Given the description of an element on the screen output the (x, y) to click on. 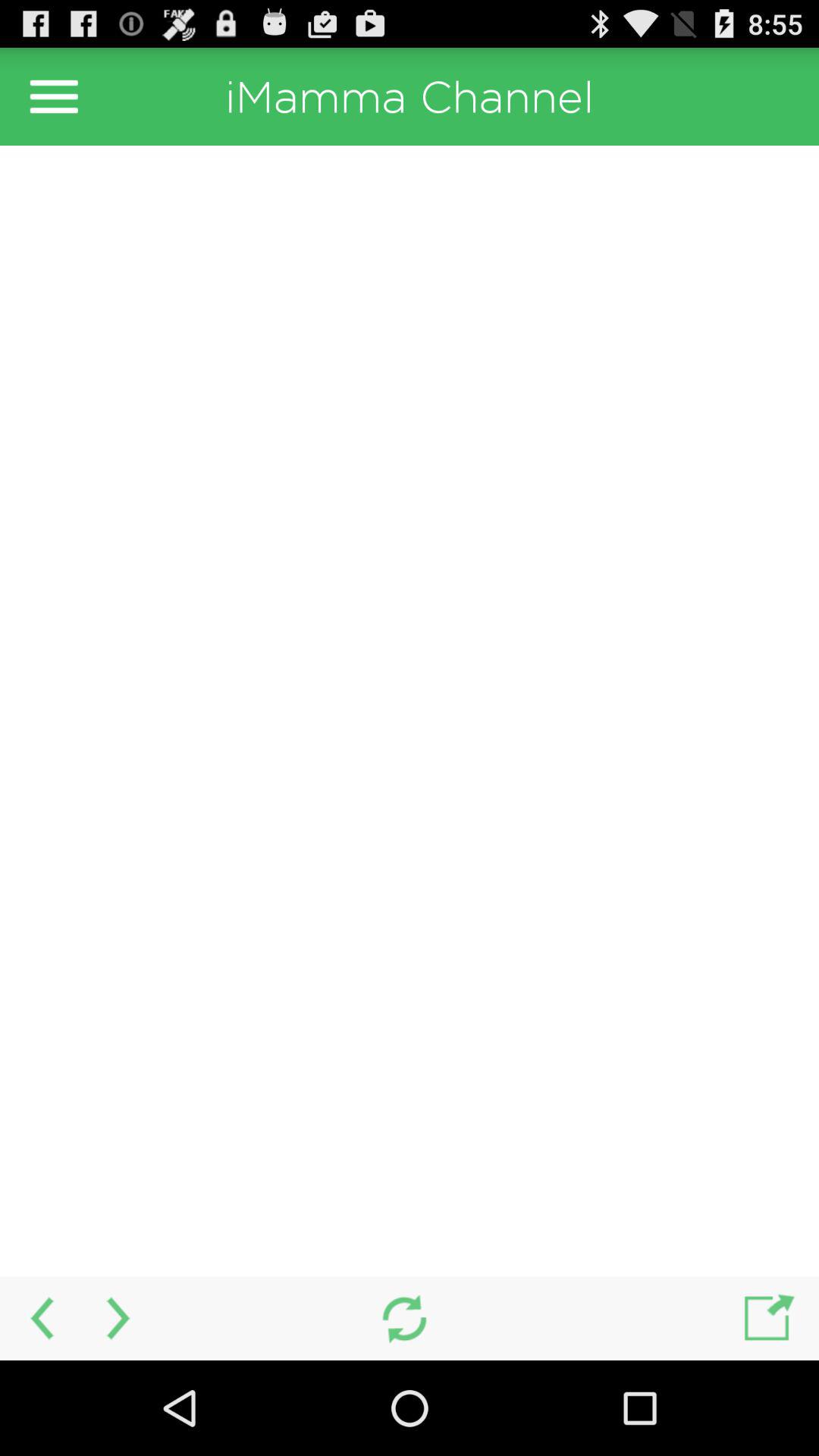
menu (53, 96)
